Given the description of an element on the screen output the (x, y) to click on. 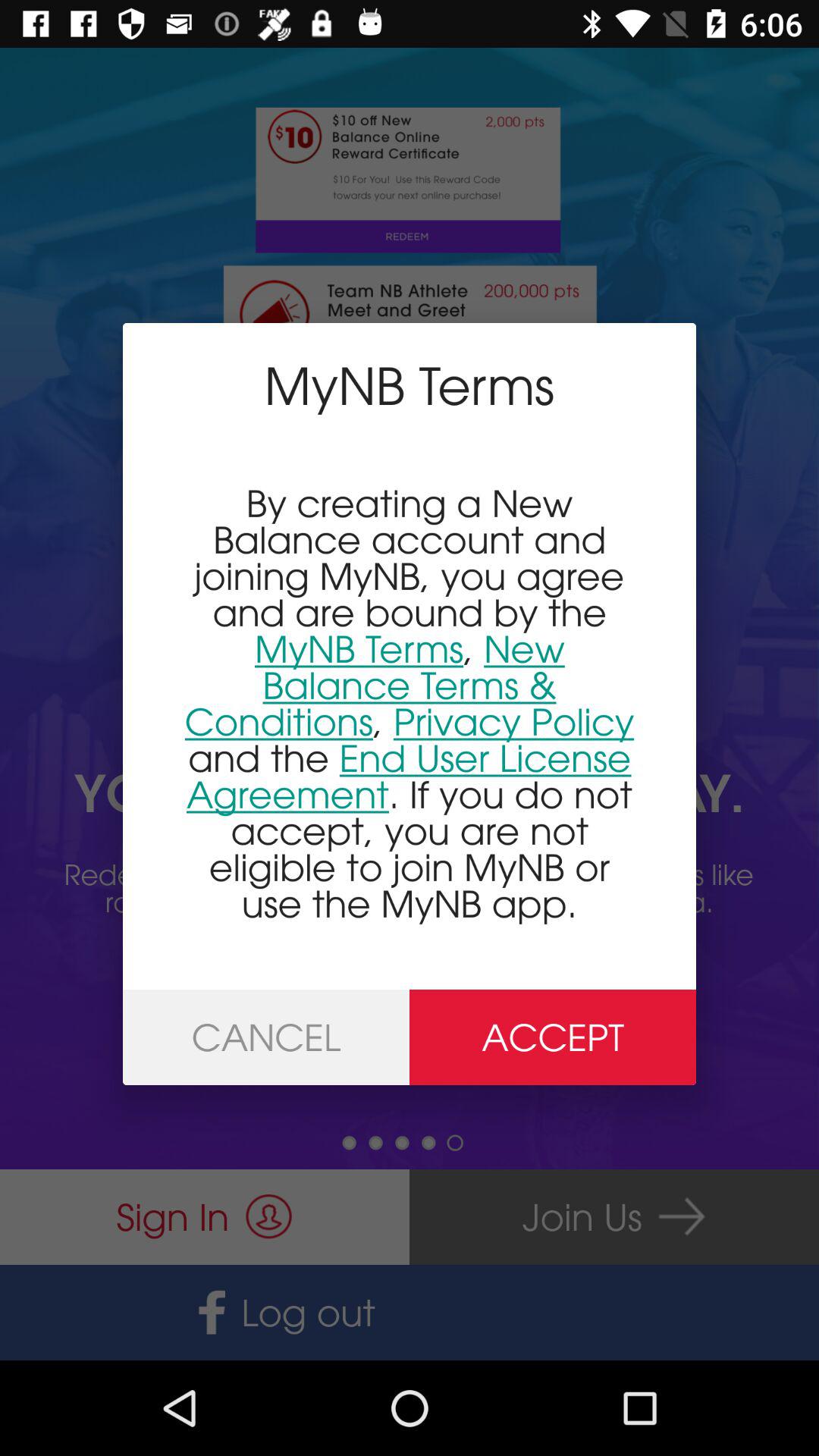
press accept (552, 1037)
